Given the description of an element on the screen output the (x, y) to click on. 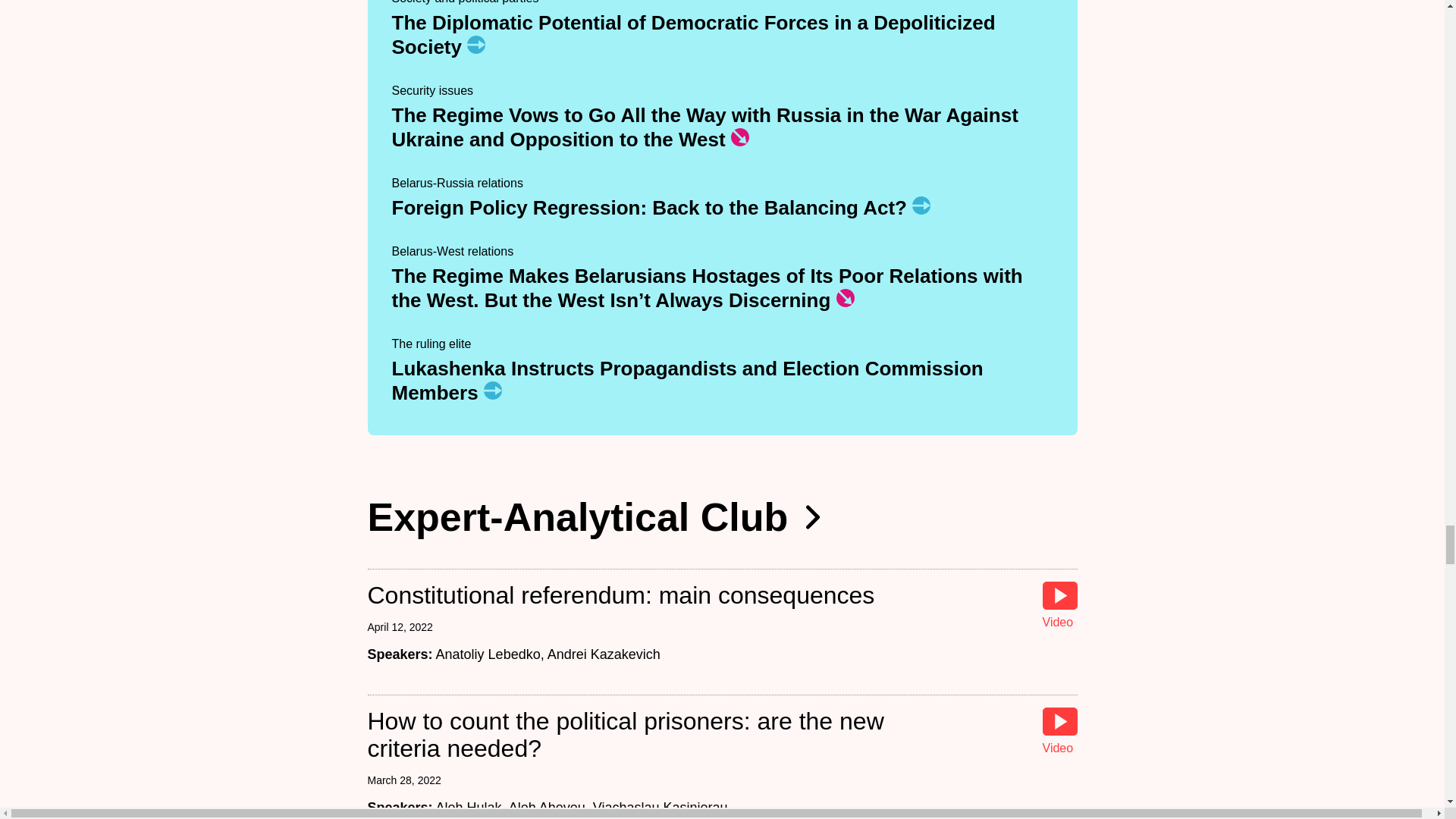
Foreign Policy Regression: Back to the Balancing Act? (649, 207)
Belarus-West relations (452, 250)
Society and political parties (464, 2)
The ruling elite (430, 343)
Security issues (432, 90)
